Given the description of an element on the screen output the (x, y) to click on. 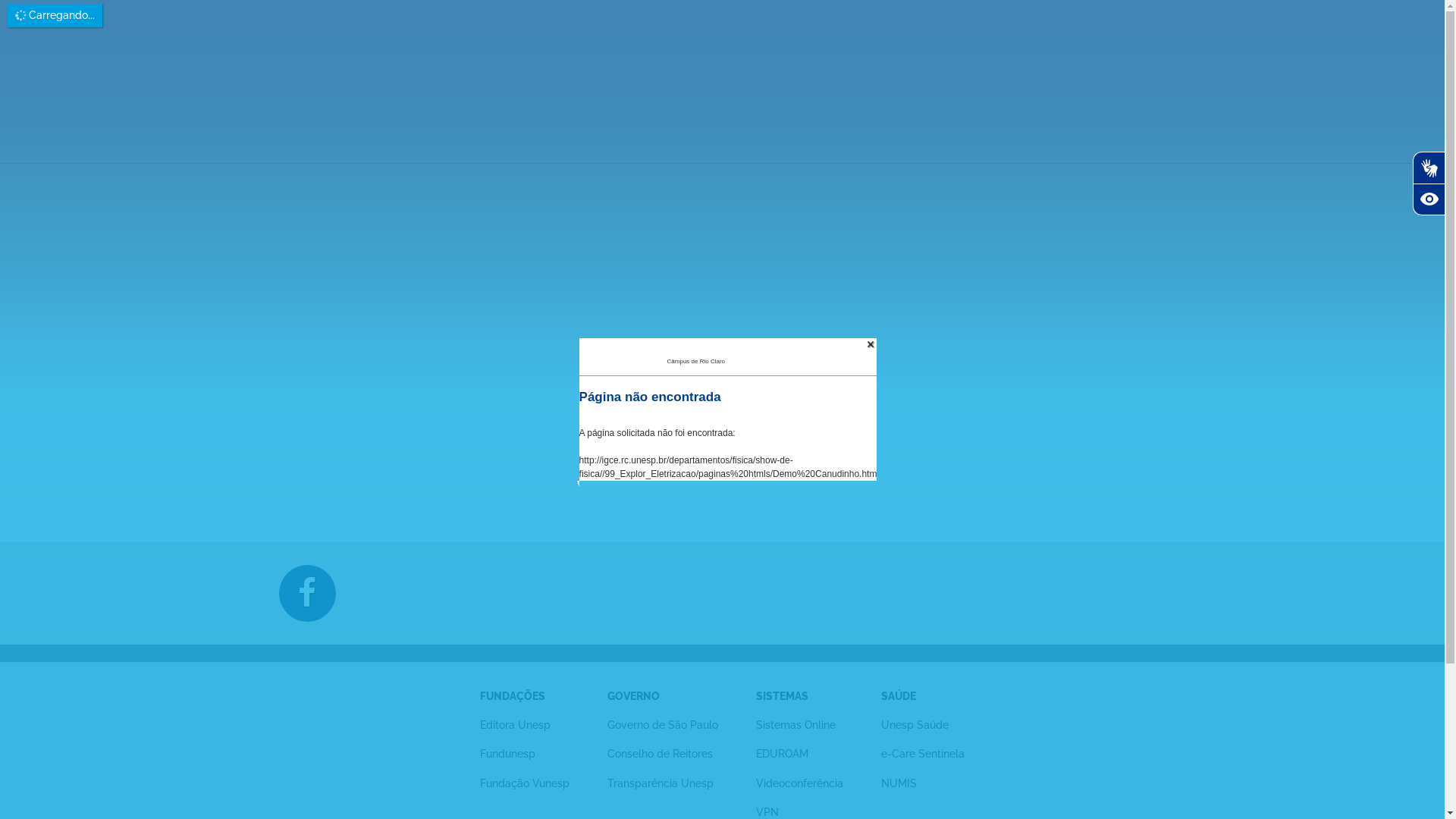
Fundunesp Element type: text (507, 753)
Conselho de Reitores Element type: text (659, 753)
Fechar Element type: hover (870, 344)
IGCE no Facebook Element type: text (307, 592)
EDUROAM Element type: text (782, 753)
e-Care Sentinela Element type: text (922, 753)
NUMIS Element type: text (898, 783)
Editora Unesp Element type: text (515, 724)
Sistemas Online Element type: text (795, 724)
VPN Element type: text (767, 812)
